Given the description of an element on the screen output the (x, y) to click on. 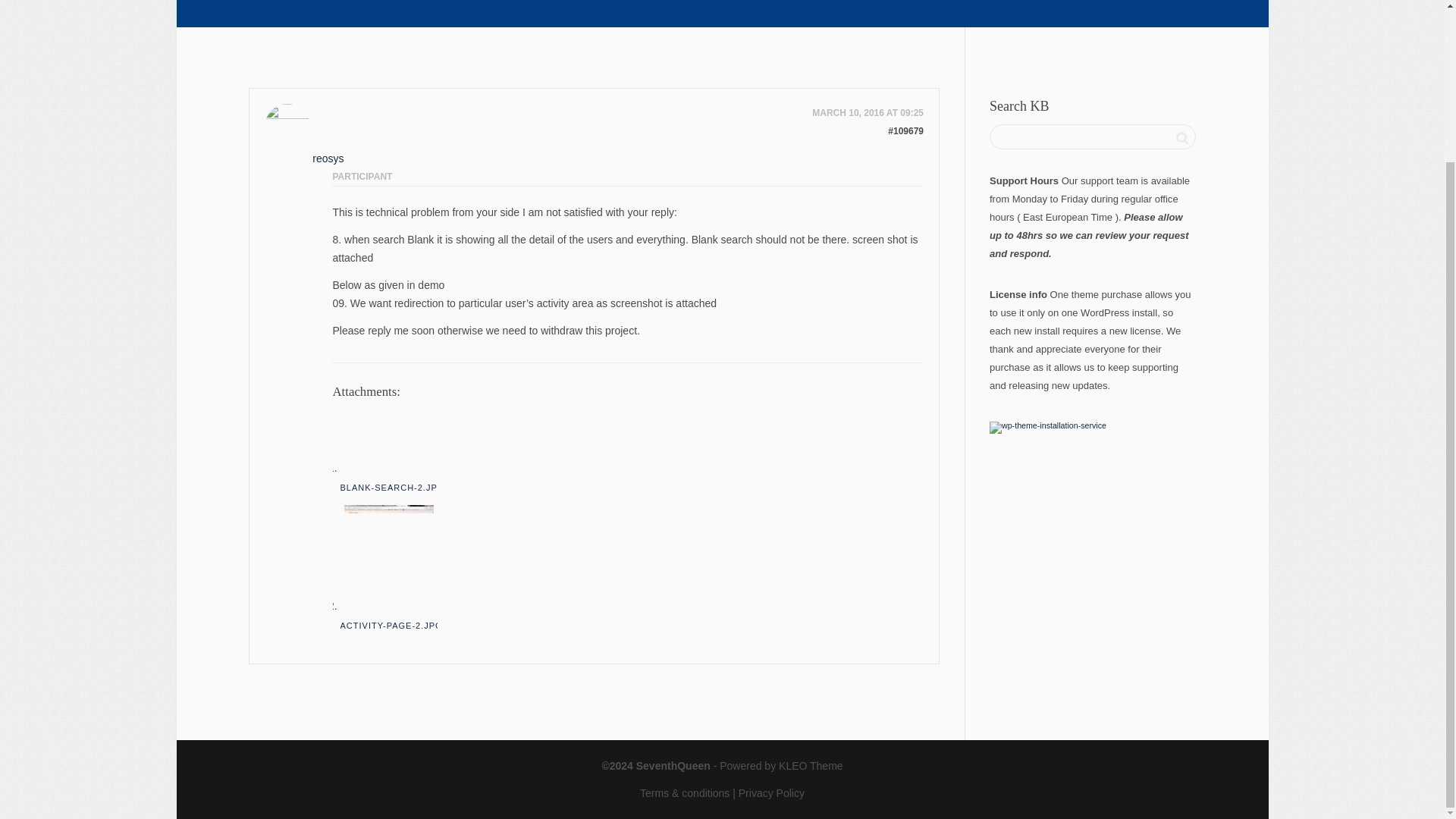
Search (1181, 137)
activity-page-2.jpg (387, 555)
View reosys's profile (327, 137)
 reosys (327, 137)
ACTIVITY-PAGE-2.JPG (390, 625)
Privacy Policy (771, 793)
Search (1181, 137)
blank-search-2.jpg (387, 441)
Powered by KLEO Theme (781, 766)
BLANK-SEARCH-2.JPG (391, 487)
